Given the description of an element on the screen output the (x, y) to click on. 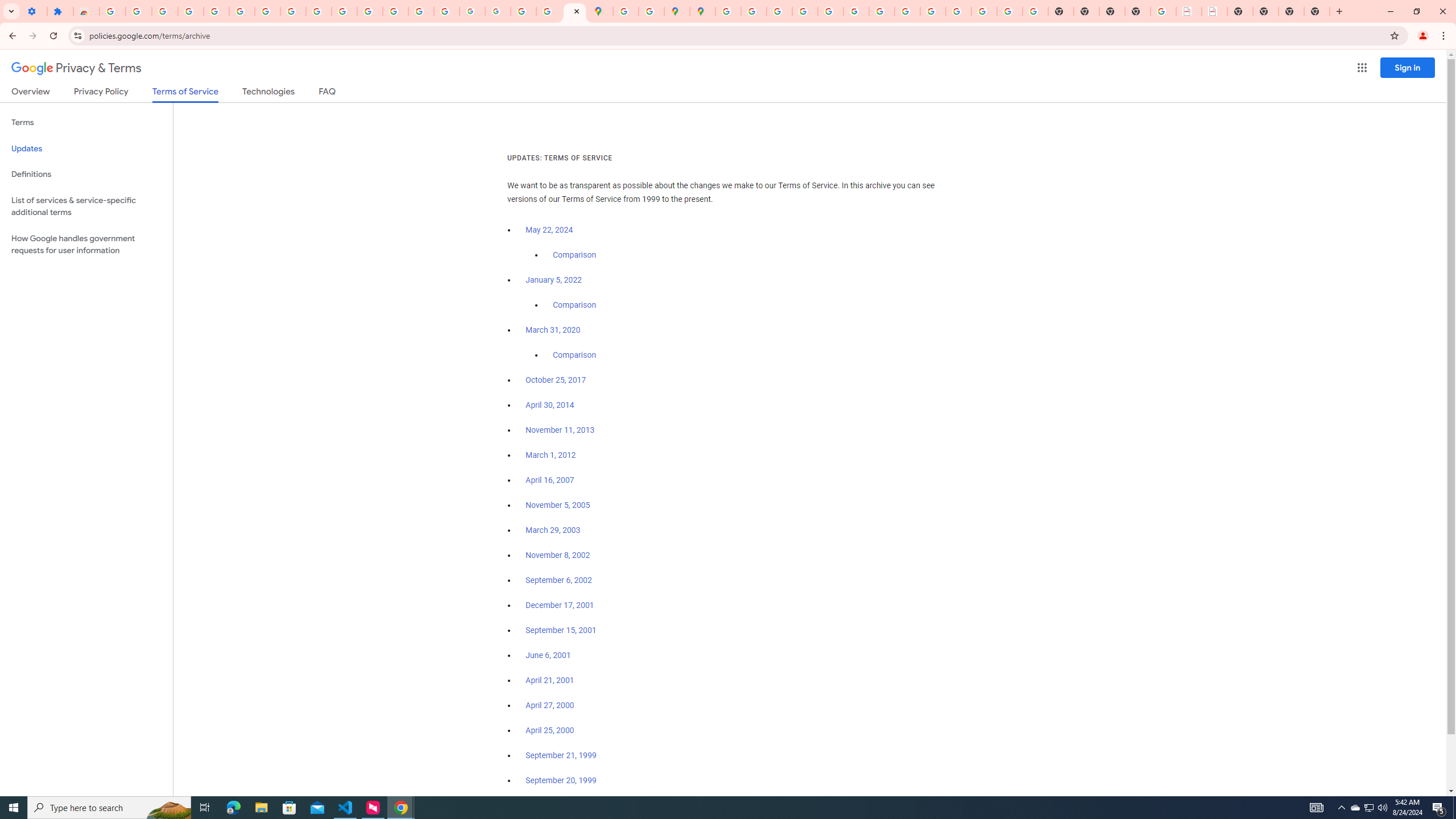
September 6, 2002 (558, 579)
December 17, 2001 (559, 605)
New Tab (1316, 11)
Reviews: Helix Fruit Jump Arcade Game (86, 11)
